Given the description of an element on the screen output the (x, y) to click on. 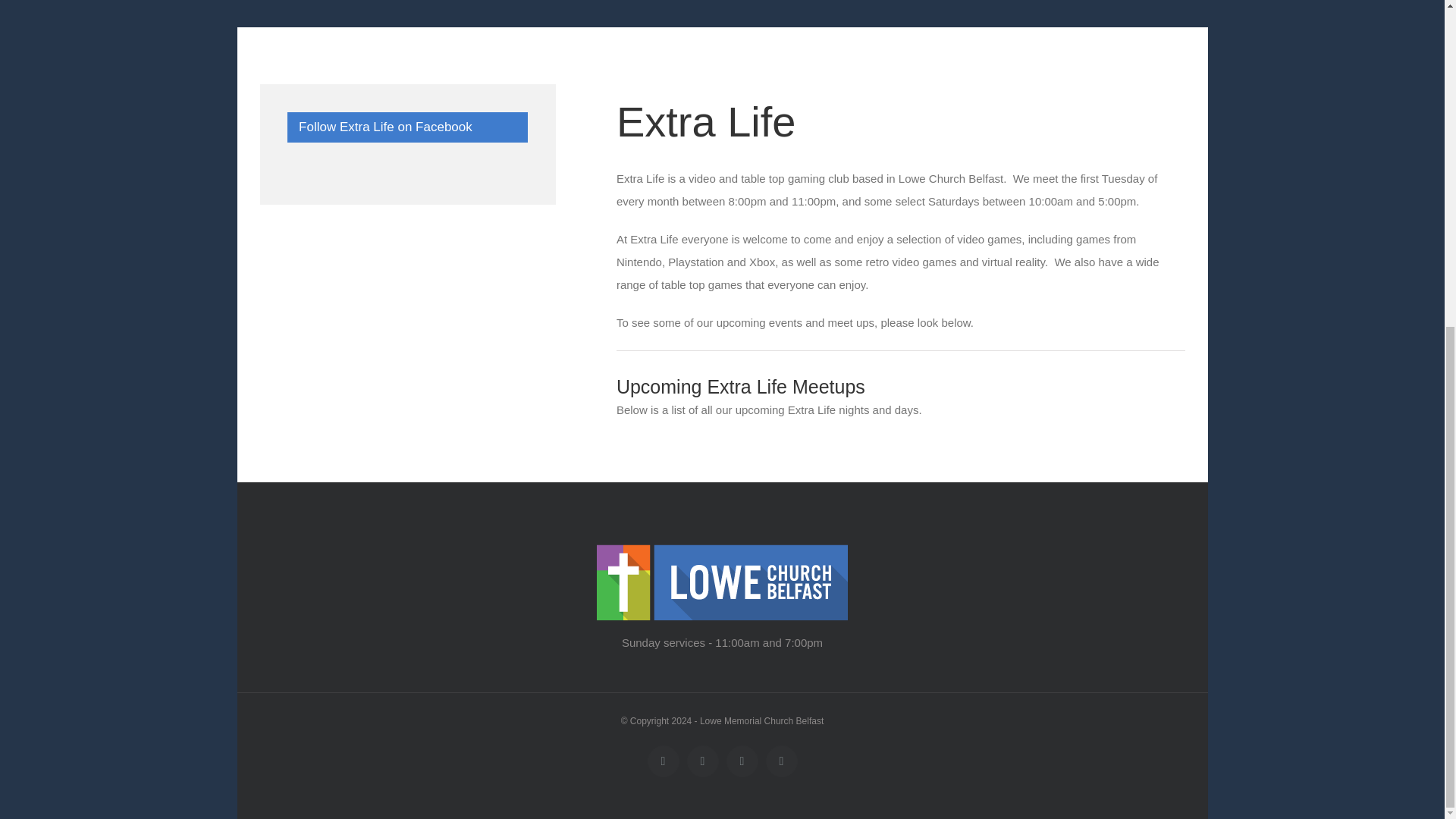
Facebook (663, 761)
Email (703, 761)
Instagram (781, 761)
YouTube (742, 761)
